Given the description of an element on the screen output the (x, y) to click on. 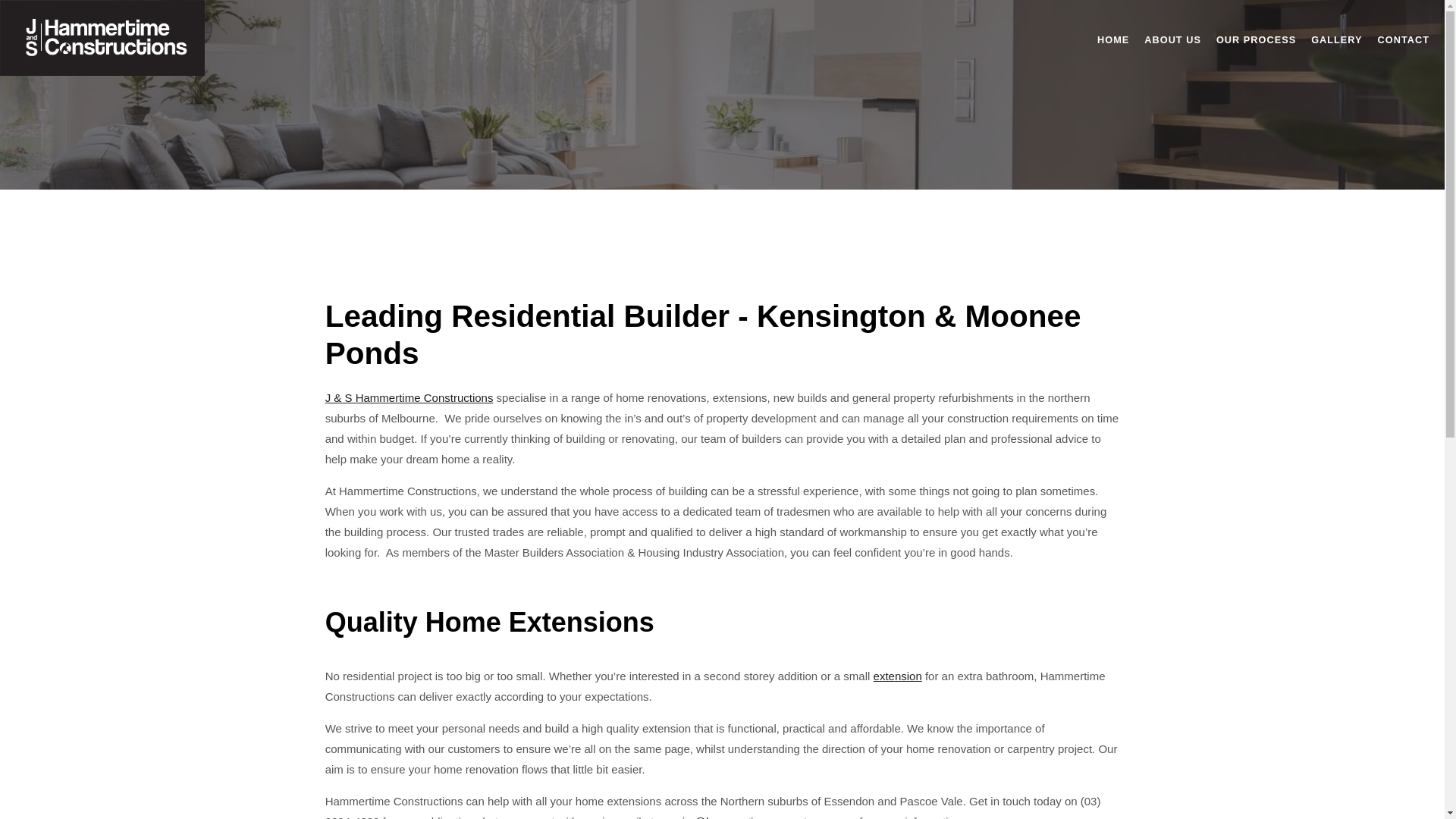
CONTACT Element type: text (1403, 39)
J & S Hammertime Constructions Element type: text (409, 397)
OUR PROCESS Element type: text (1255, 39)
GALLERY Element type: text (1336, 39)
ABOUT US Element type: text (1172, 39)
HOME Element type: text (1112, 39)
extension Element type: text (897, 675)
